Given the description of an element on the screen output the (x, y) to click on. 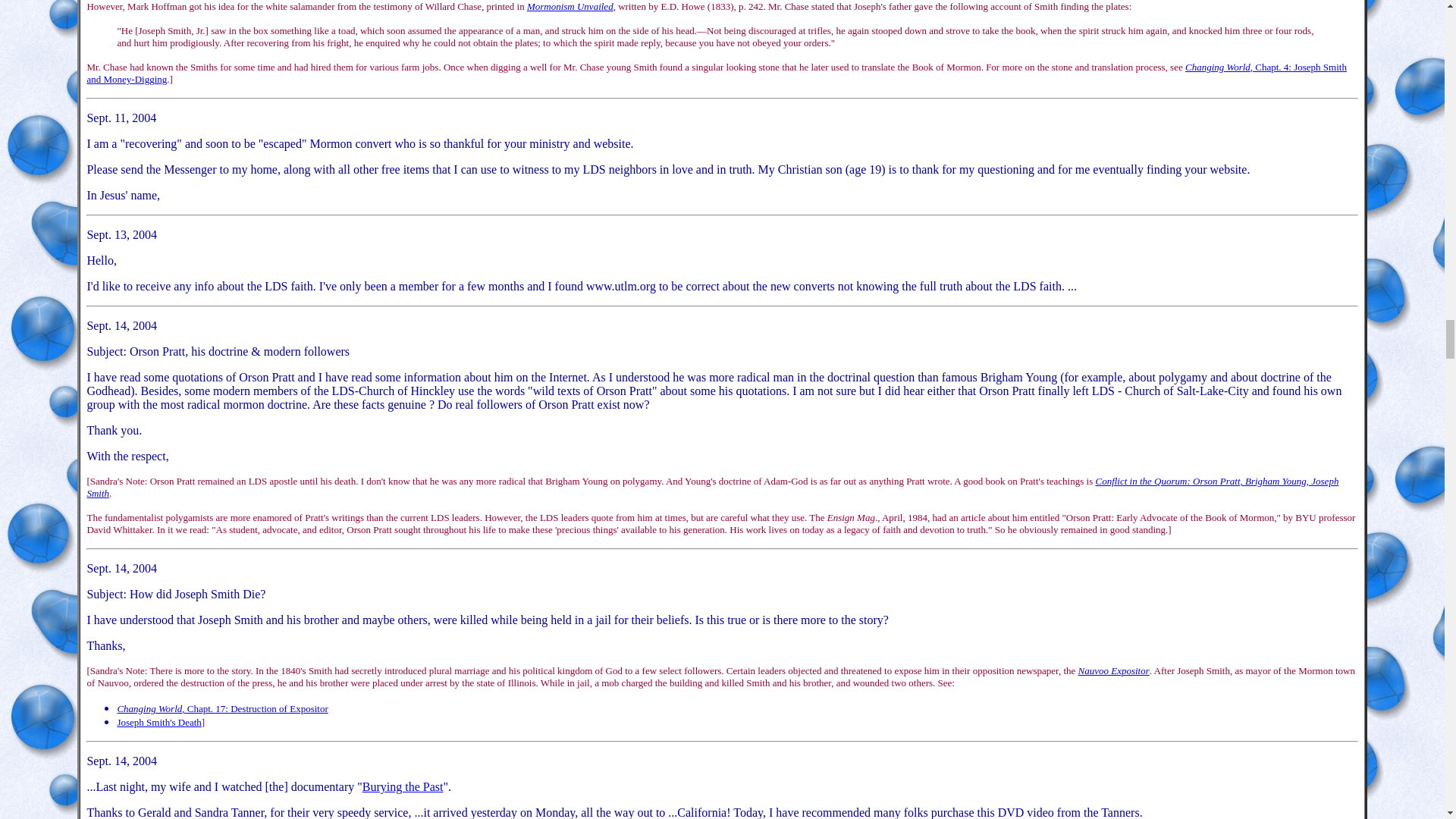
Changing World, Chapt. 4: Joseph Smith and Money-Digging (715, 73)
Nauvoo Expositor (1114, 670)
Mormonism Unvailed (569, 6)
Burying the Past (403, 786)
Joseph Smith's Death (158, 721)
Changing World, Chapt. 17: Destruction of Expositor (221, 707)
